Given the description of an element on the screen output the (x, y) to click on. 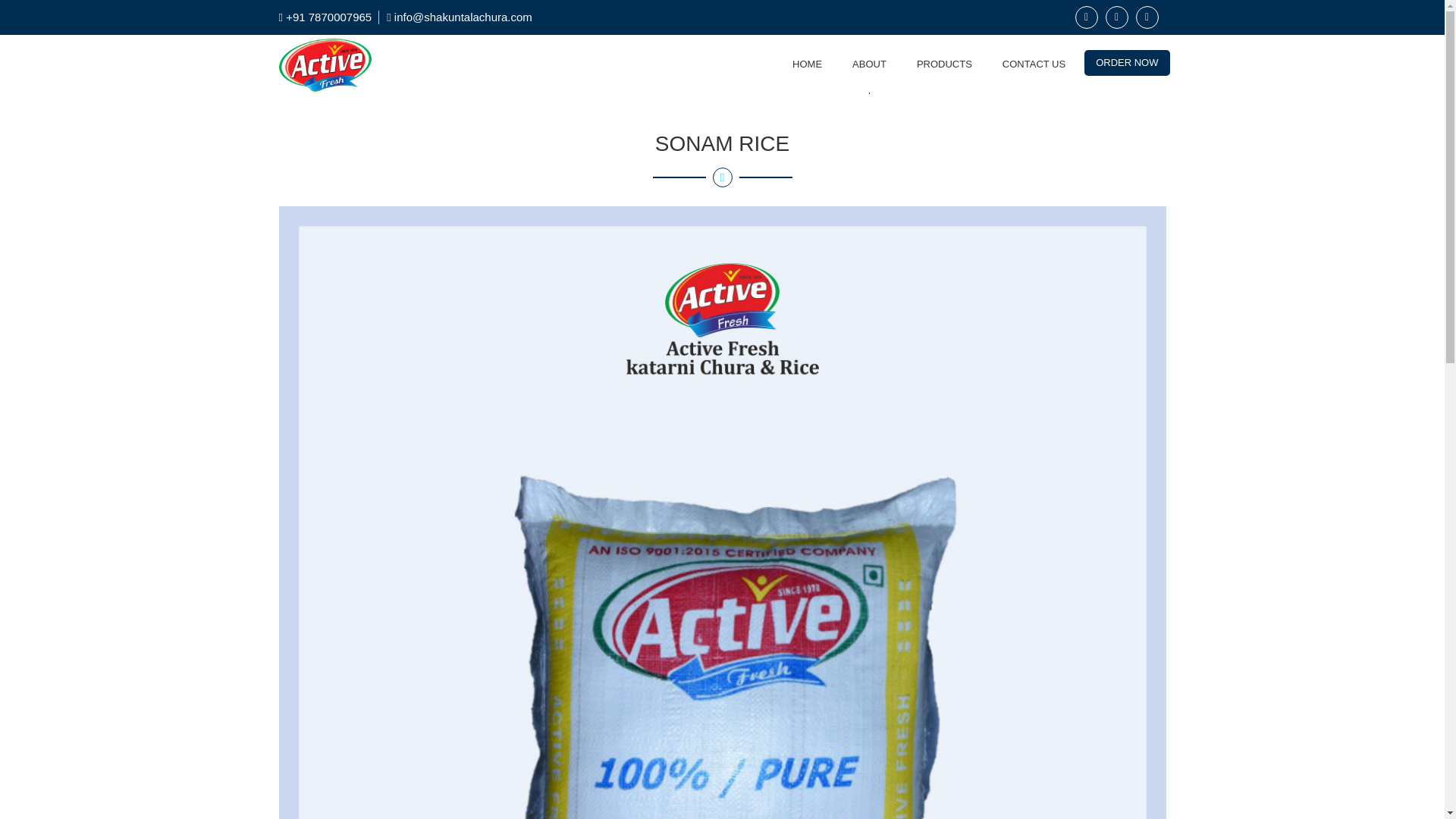
ORDER NOW (1126, 62)
ABOUT (869, 64)
CONTACT US (1034, 64)
PRODUCTS (944, 64)
